Given the description of an element on the screen output the (x, y) to click on. 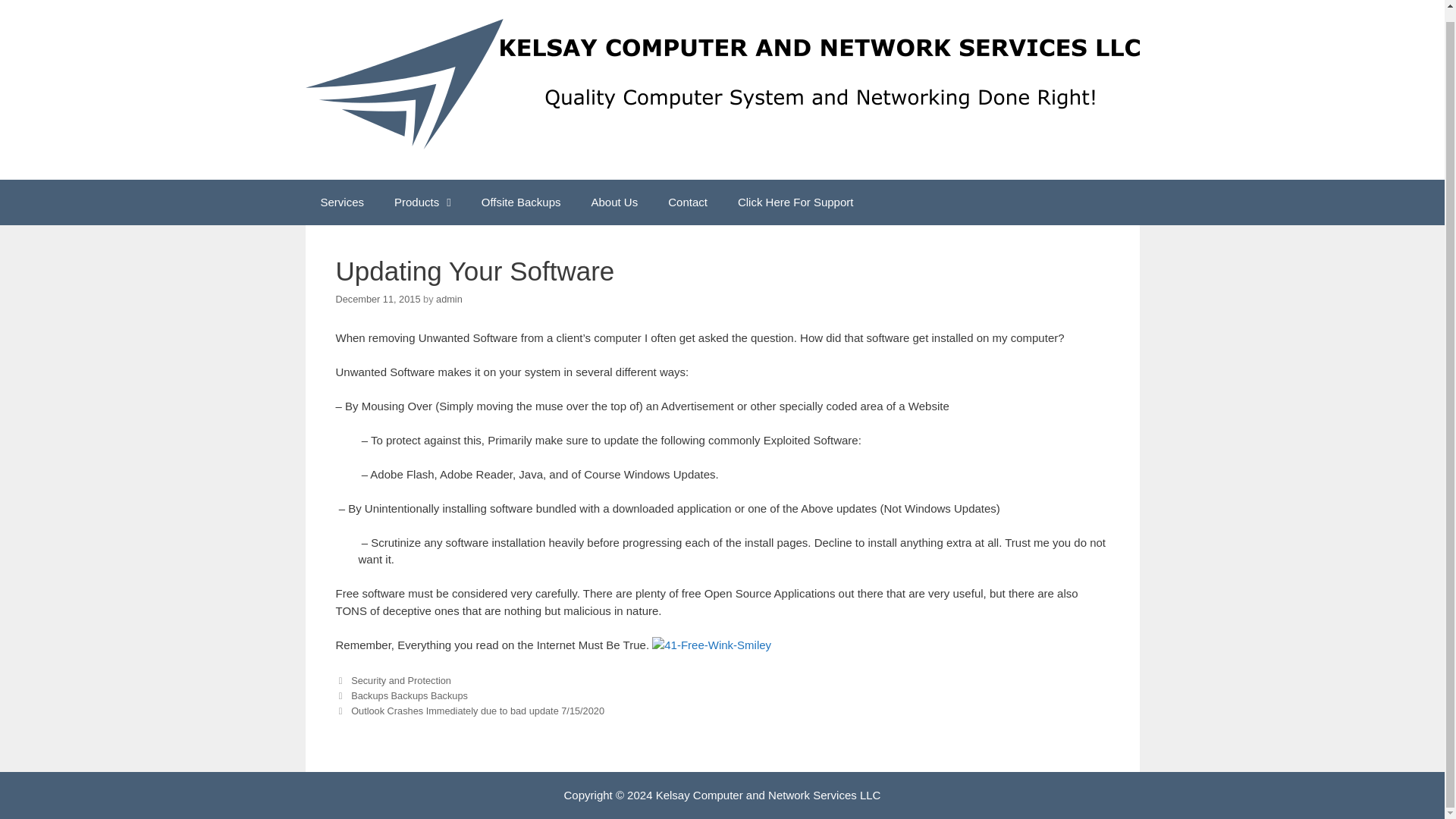
9:09 am (377, 298)
Click Here For Support (795, 202)
KELSAY COMPUTER AND NETWORK SERVICES LLC (721, 83)
KELSAY COMPUTER AND NETWORK SERVICES LLC (721, 82)
Services (341, 202)
Products (421, 202)
About Us (614, 202)
Contact (687, 202)
Offsite Backups (520, 202)
Skip to content (37, 2)
Previous (400, 695)
admin (449, 298)
Skip to content (37, 2)
December 11, 2015 (377, 298)
Next (469, 710)
